Given the description of an element on the screen output the (x, y) to click on. 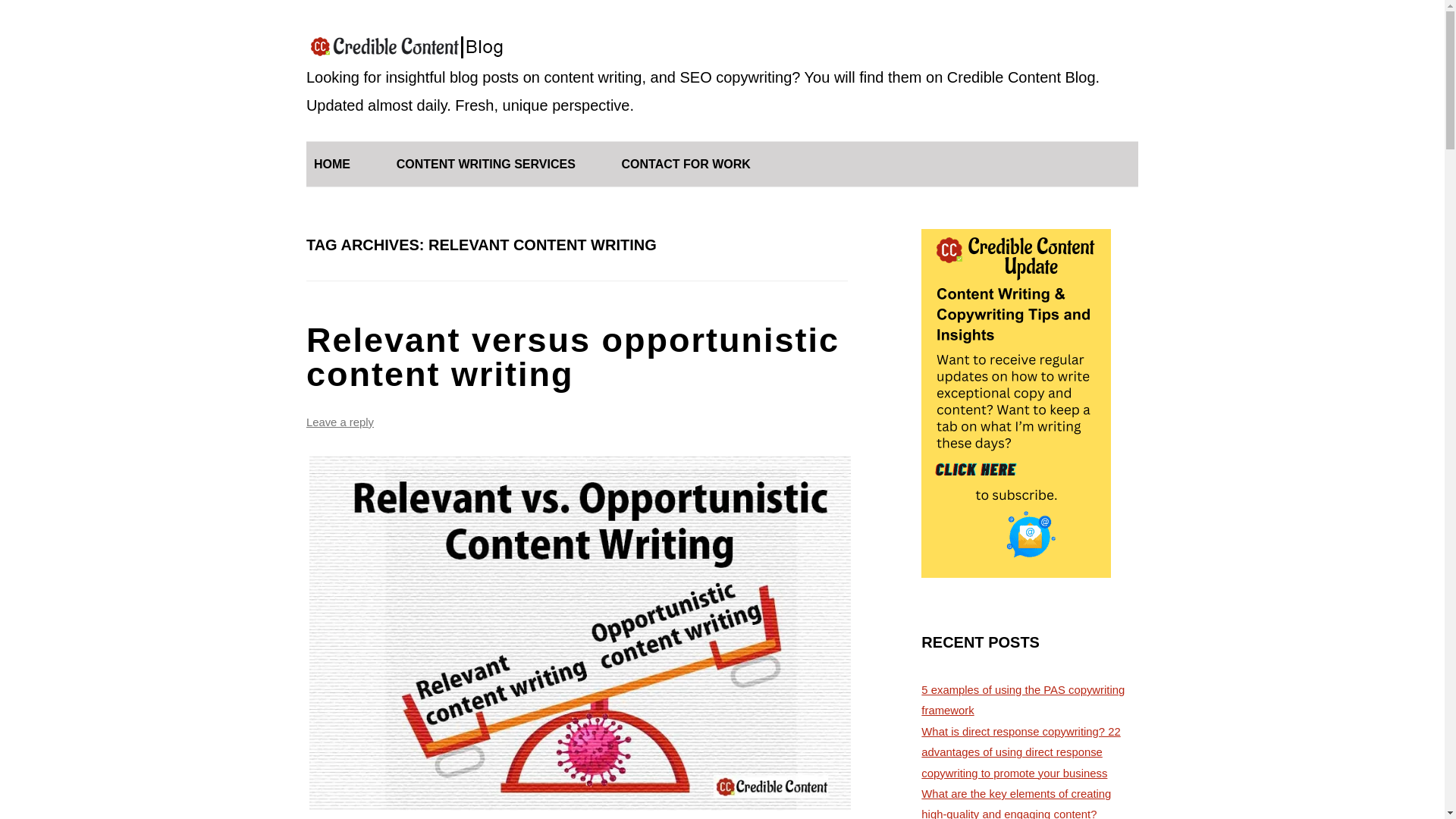
Relevant versus opportunistic content writing (572, 357)
Leave a reply (339, 422)
5 examples of using the PAS copywriting framework (1022, 699)
CONTACT FOR WORK (686, 163)
CONTENT WRITING SERVICES (485, 163)
